Given the description of an element on the screen output the (x, y) to click on. 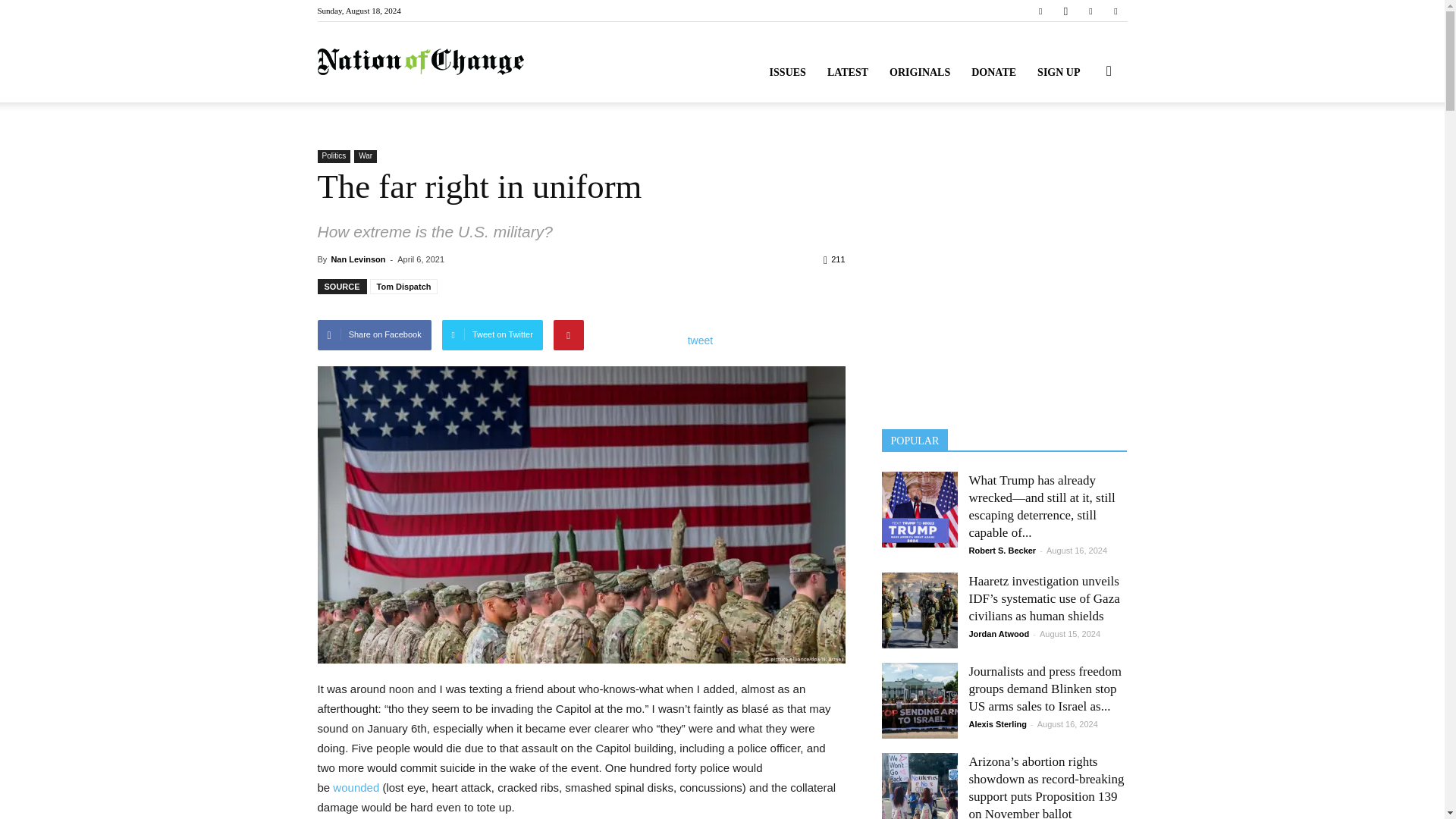
NationofChange (419, 61)
Youtube (1114, 10)
Instagram (1065, 10)
ISSUES (787, 72)
Facebook (1040, 10)
Twitter (1090, 10)
